Given the description of an element on the screen output the (x, y) to click on. 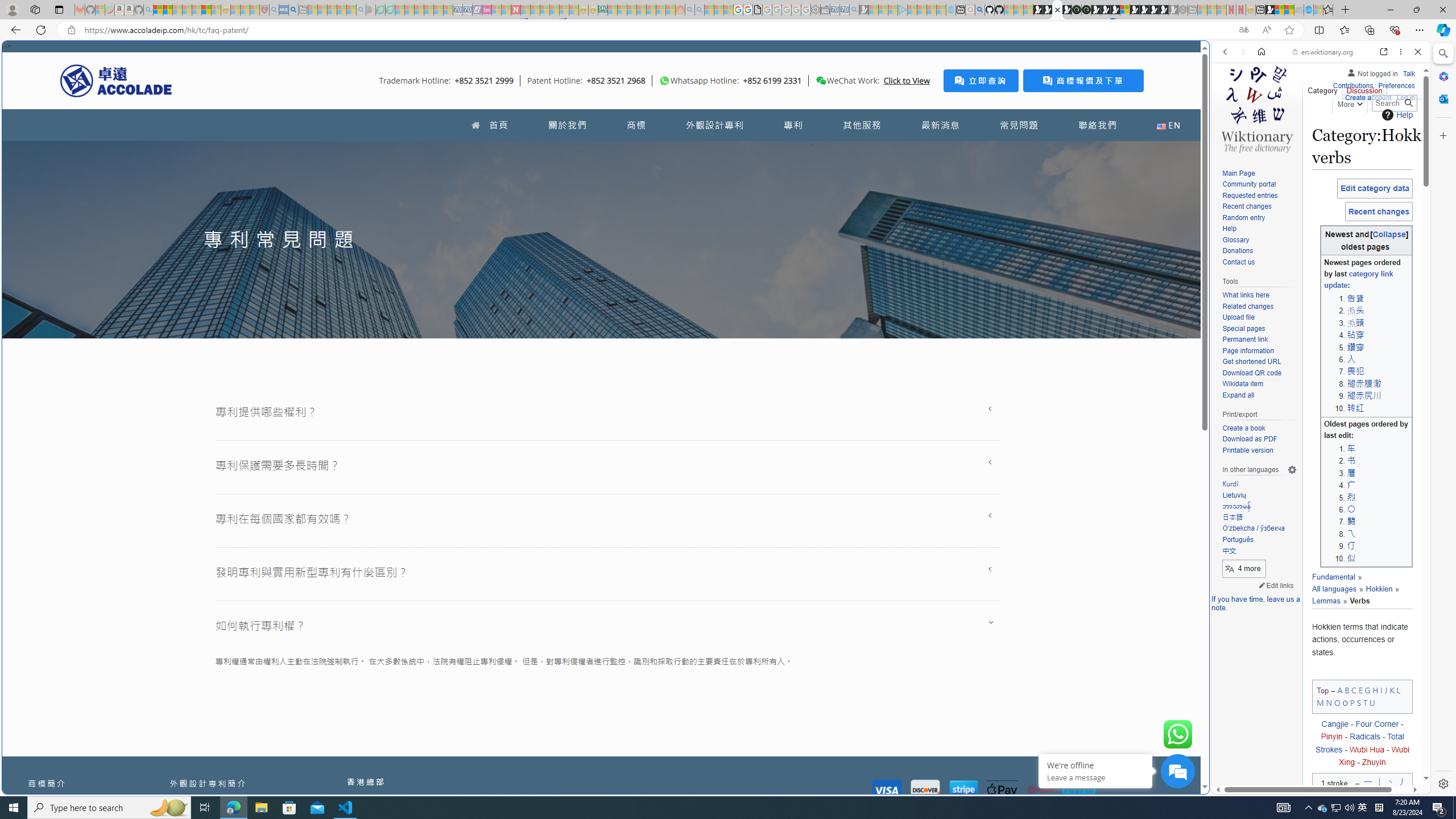
Expand all (1259, 395)
Pinyin (1331, 737)
Talk (1408, 73)
